Given the description of an element on the screen output the (x, y) to click on. 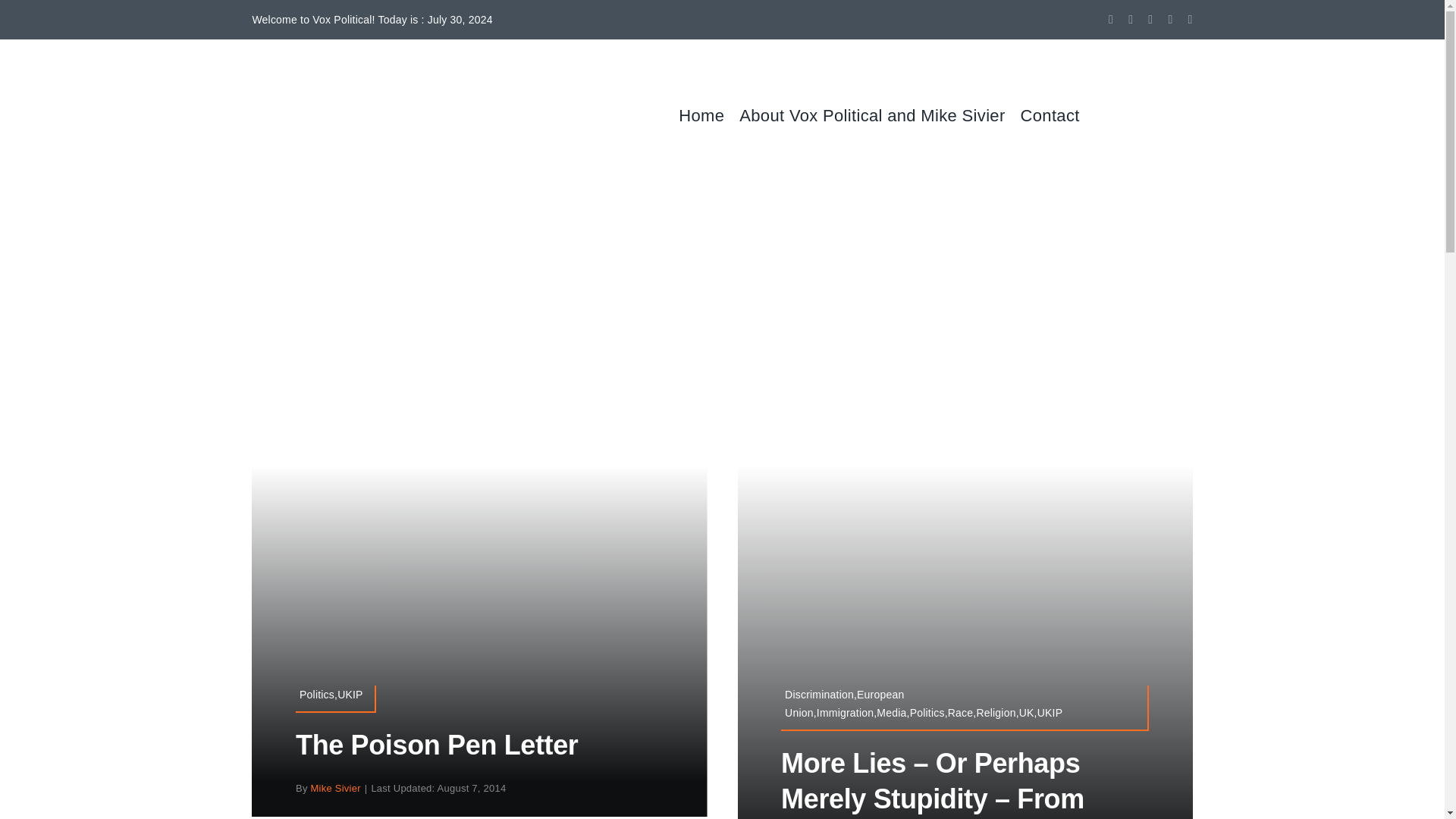
Home (708, 115)
Mike Sivier (336, 787)
Posts by Mike Sivier (336, 787)
Contact (1057, 115)
About Vox Political and Mike Sivier (879, 115)
The Poison Pen Letter (436, 744)
Politics,UKIP (335, 698)
